Given the description of an element on the screen output the (x, y) to click on. 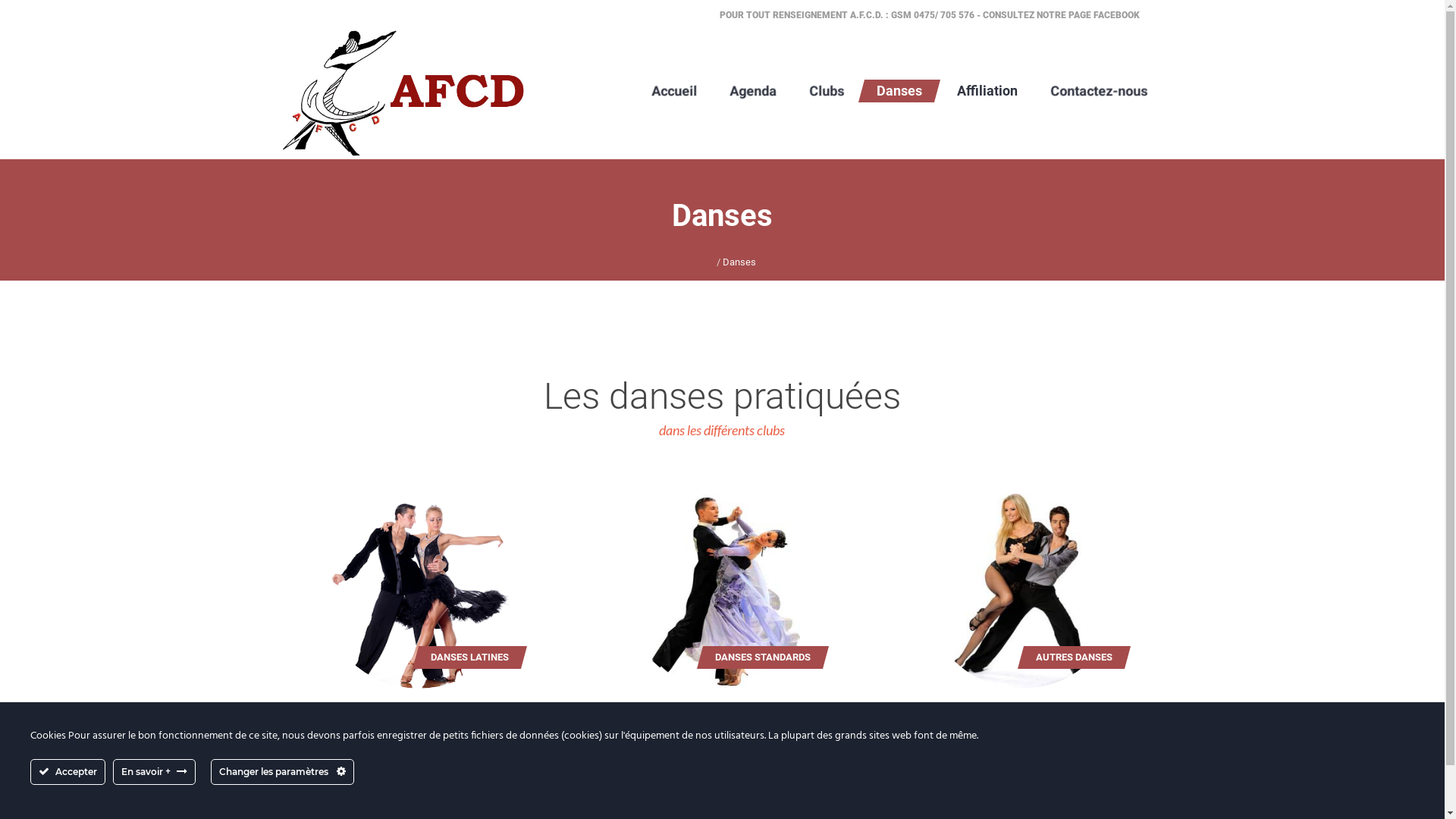
Danses Element type: text (895, 90)
AUTRES DANSES Element type: text (1073, 657)
CONSULTEZ NOTRE PAGE FACEBOOK Element type: text (1060, 14)
Accueil Element type: text (670, 90)
Affiliation Element type: text (983, 90)
DANSES LATINES Element type: text (469, 657)
AFCD Element type: hover (403, 90)
Danses latines Element type: hover (418, 590)
Clubs Element type: text (822, 90)
Home Element type: text (701, 261)
DANSES STANDARDS Element type: text (762, 657)
Agenda Element type: text (748, 90)
Autres danses Element type: hover (1022, 590)
Danses standards Element type: hover (720, 590)
Contactez-nous Element type: text (1094, 90)
